Given the description of an element on the screen output the (x, y) to click on. 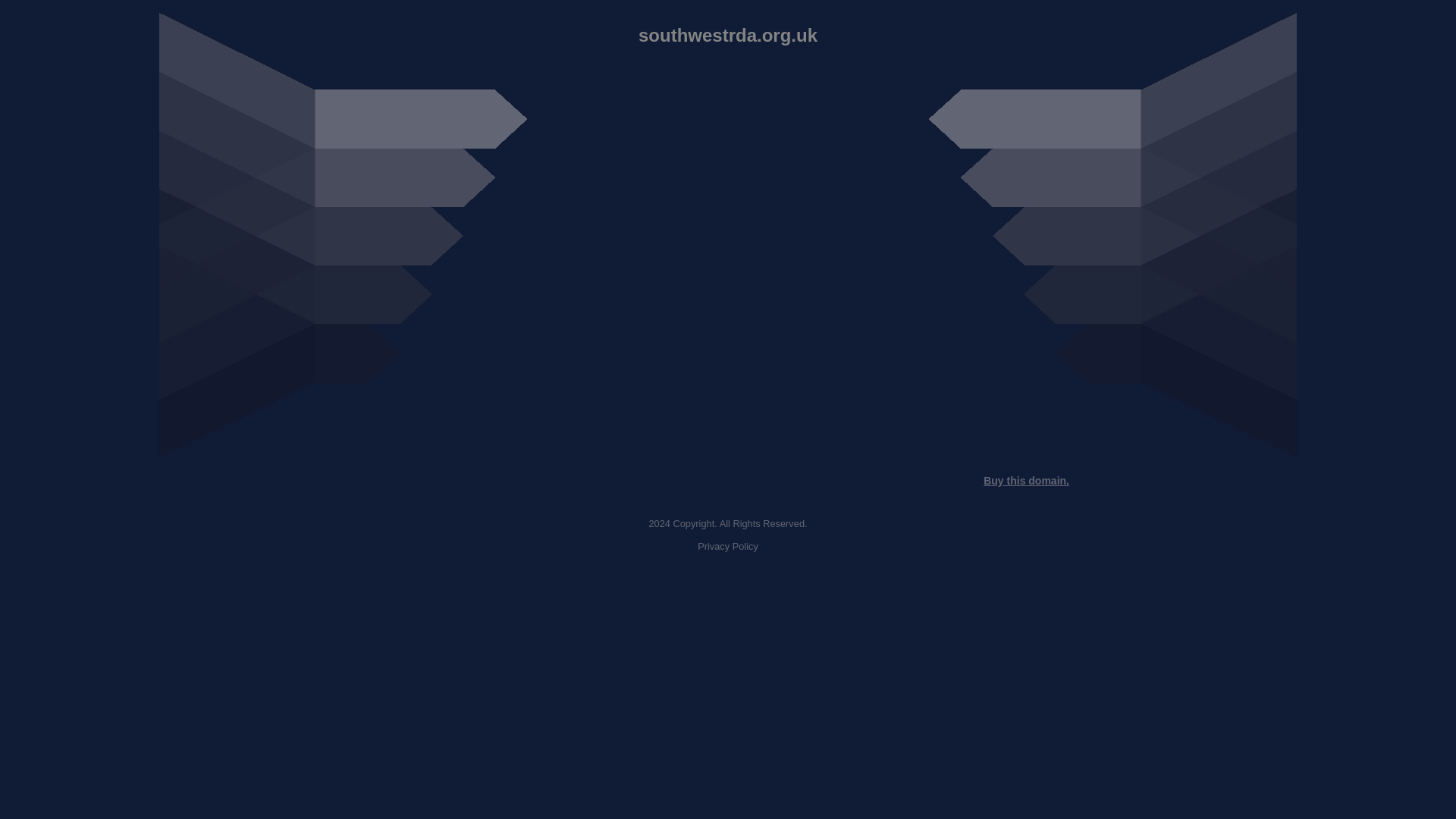
Buy this domain. (1026, 480)
Privacy Policy (727, 546)
